Given the description of an element on the screen output the (x, y) to click on. 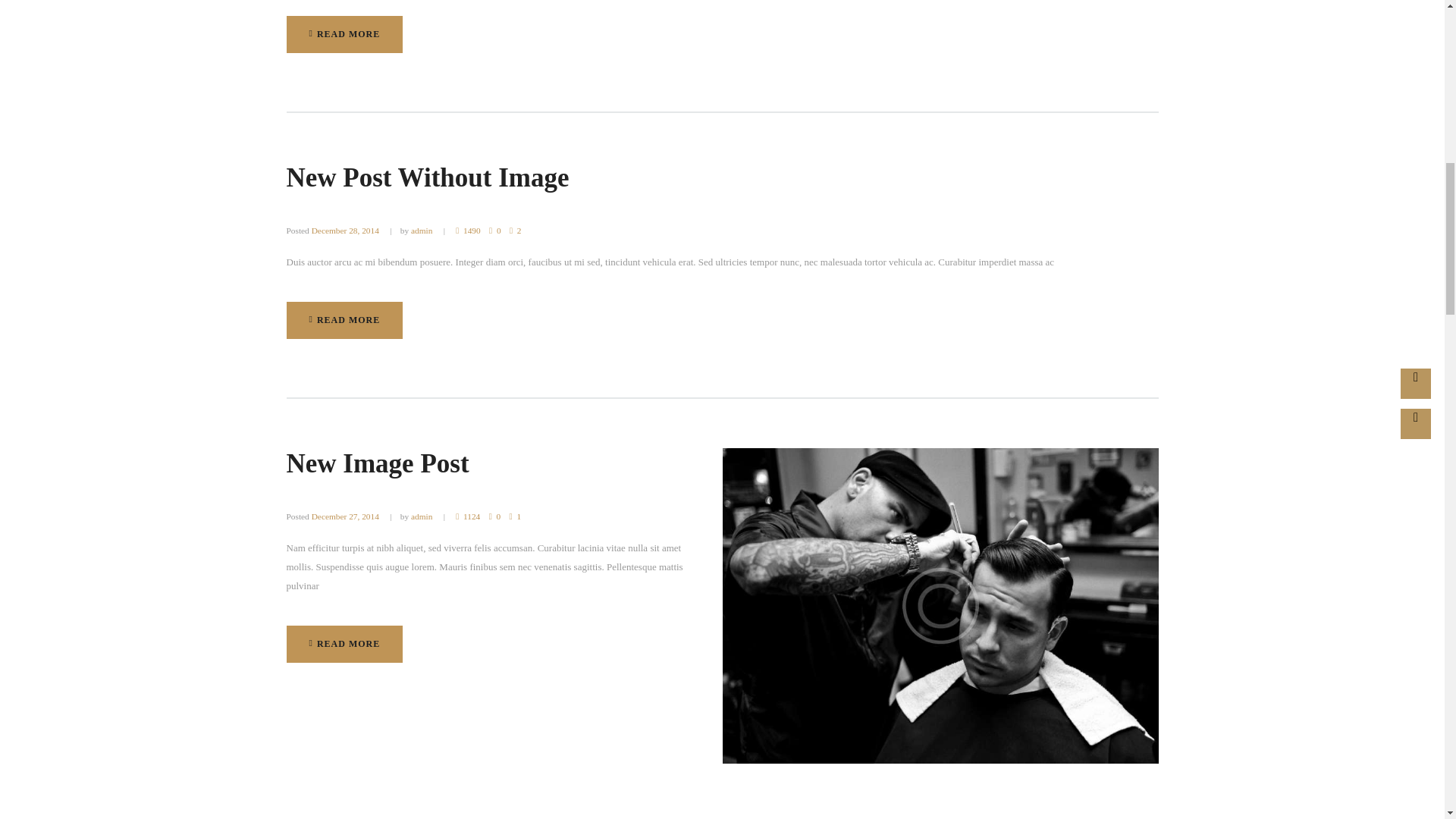
Like (515, 230)
Views - 1490 (467, 230)
New Image Post (377, 463)
admin (421, 515)
0 (494, 230)
Views - 1124 (344, 34)
1124 (467, 516)
Comments - 0 (467, 516)
1490 (494, 516)
1 (344, 643)
Comments - 0 (467, 230)
2 (515, 516)
